Given the description of an element on the screen output the (x, y) to click on. 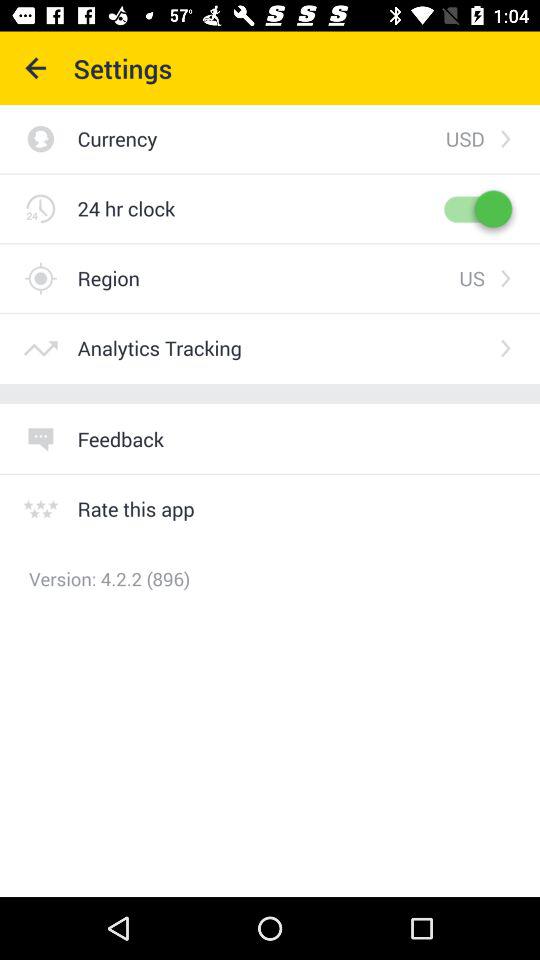
select the icon which is left side of the region (40, 278)
select the icon which is left side of the analytics tracking (40, 347)
